Given the description of an element on the screen output the (x, y) to click on. 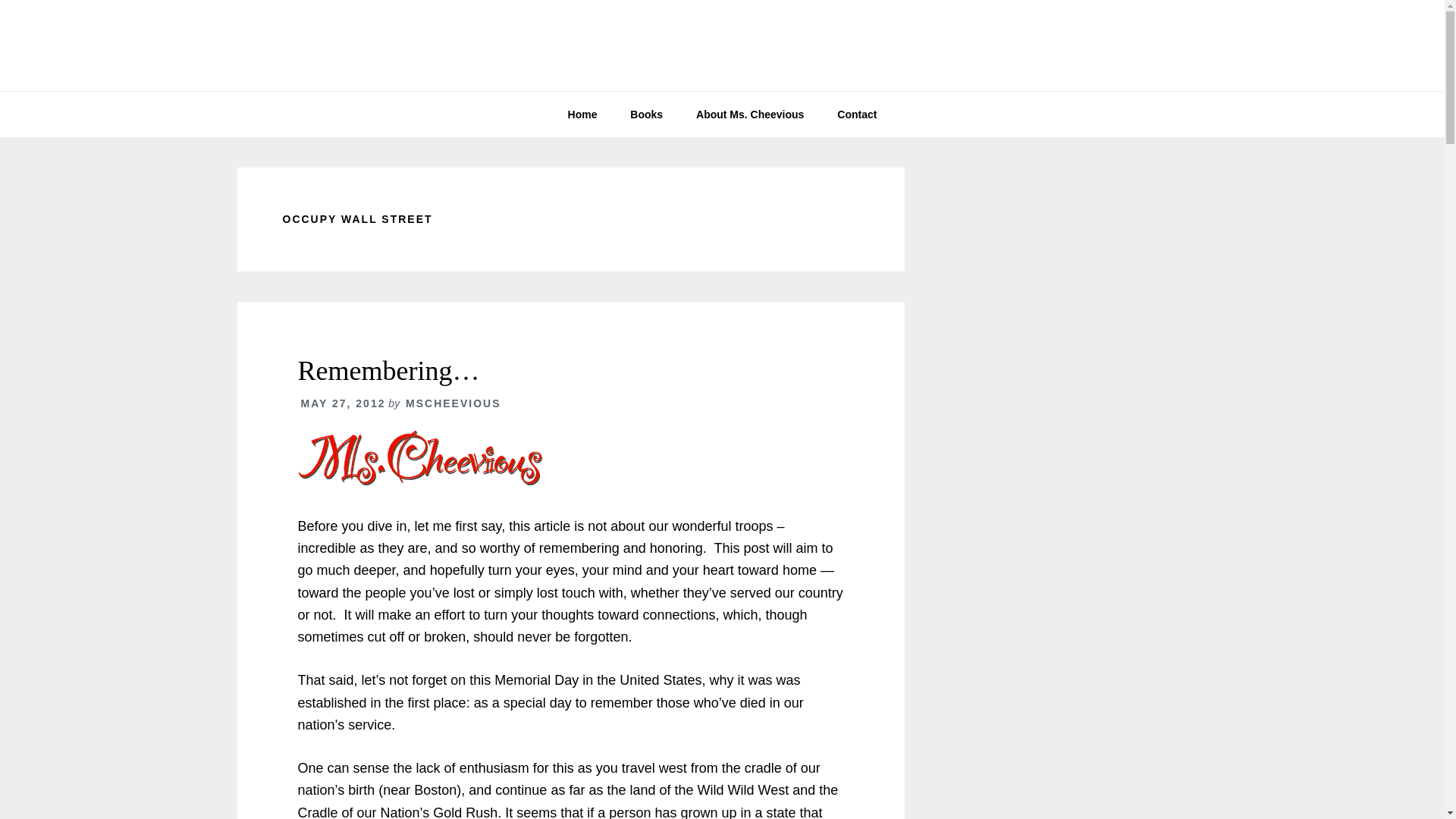
About Ms. Cheevious (749, 114)
MSCHEEVIOUS (453, 403)
Contact (856, 114)
Home (582, 114)
Ms. Cheevious in Hollywood (721, 45)
Books (646, 114)
